Given the description of an element on the screen output the (x, y) to click on. 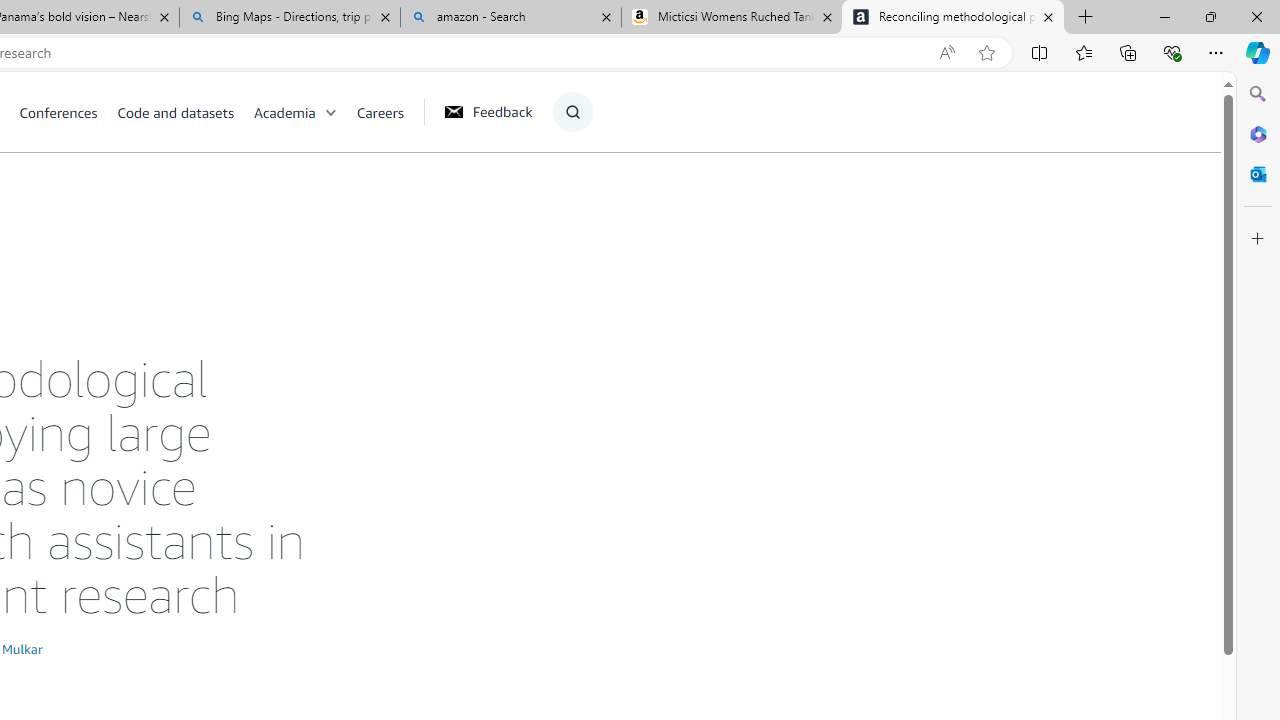
Academia (284, 111)
amazon - Search (510, 17)
Conferences (68, 111)
Show Search Form (571, 111)
Submit Search (565, 191)
Conferences (58, 111)
